Given the description of an element on the screen output the (x, y) to click on. 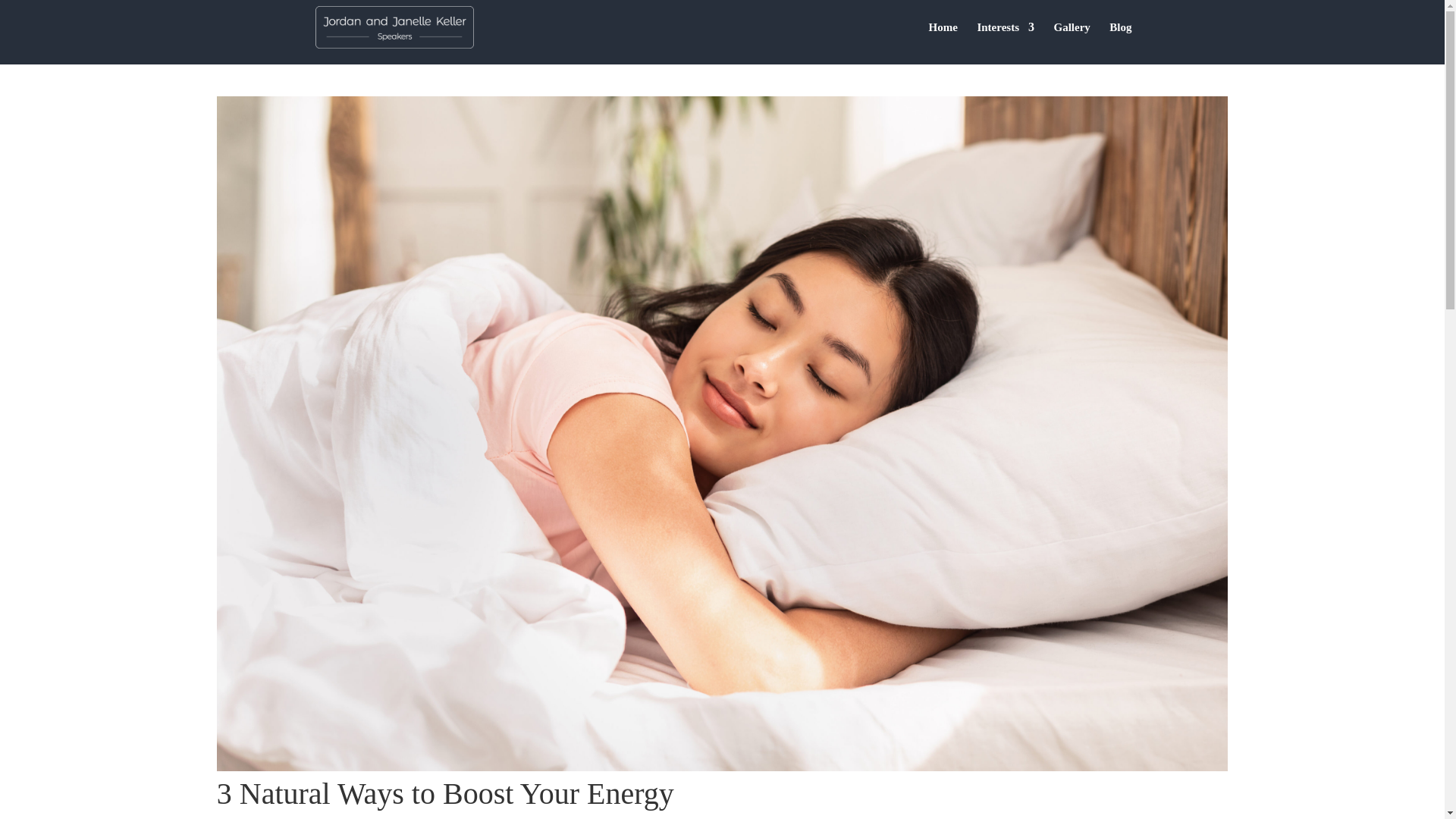
Interests (1004, 38)
Gallery (1070, 38)
